Given the description of an element on the screen output the (x, y) to click on. 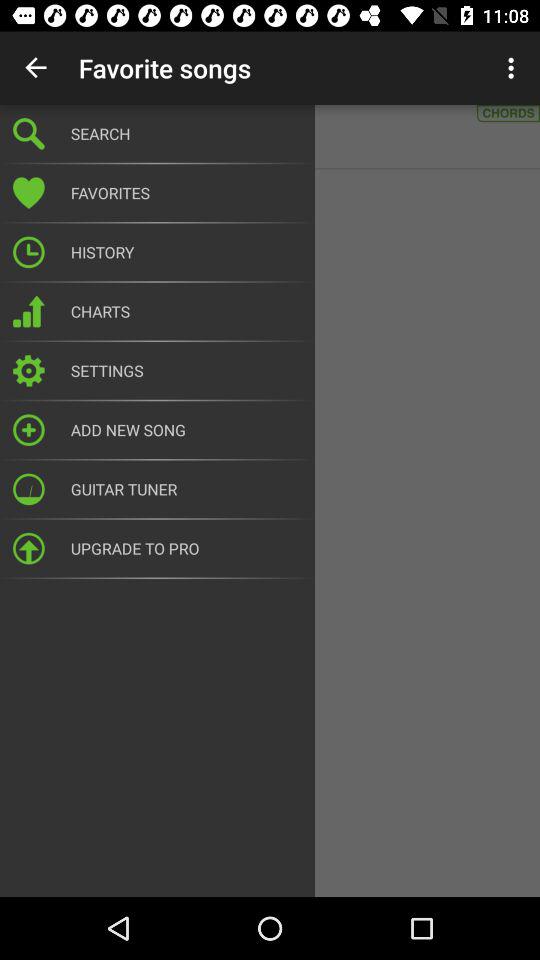
open the add new song icon (185, 430)
